Given the description of an element on the screen output the (x, y) to click on. 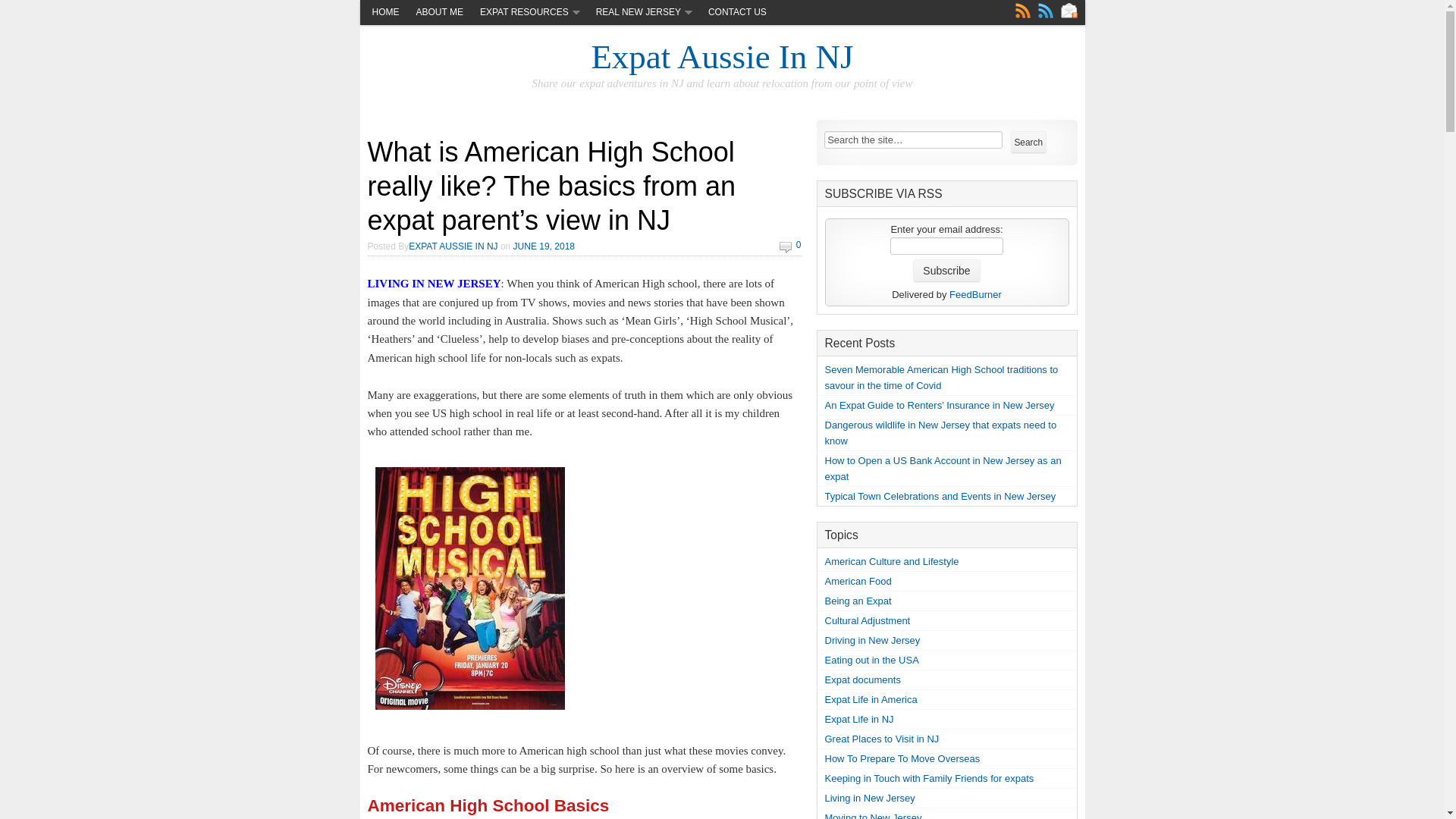
Posts (1021, 10)
Subscribe (945, 270)
Comments (1044, 10)
EXPAT RESOURCES (529, 12)
Email (1068, 10)
JUNE 19, 2018 (544, 245)
9:21 am (544, 245)
REAL NEW JERSEY (643, 12)
Expat Aussie In NJ (722, 56)
CONTACT US (737, 12)
EXPAT AUSSIE IN NJ (453, 245)
Search (1028, 142)
Expat Aussie In NJ (722, 56)
Comments feed (1044, 10)
Posts feed (1021, 10)
